Given the description of an element on the screen output the (x, y) to click on. 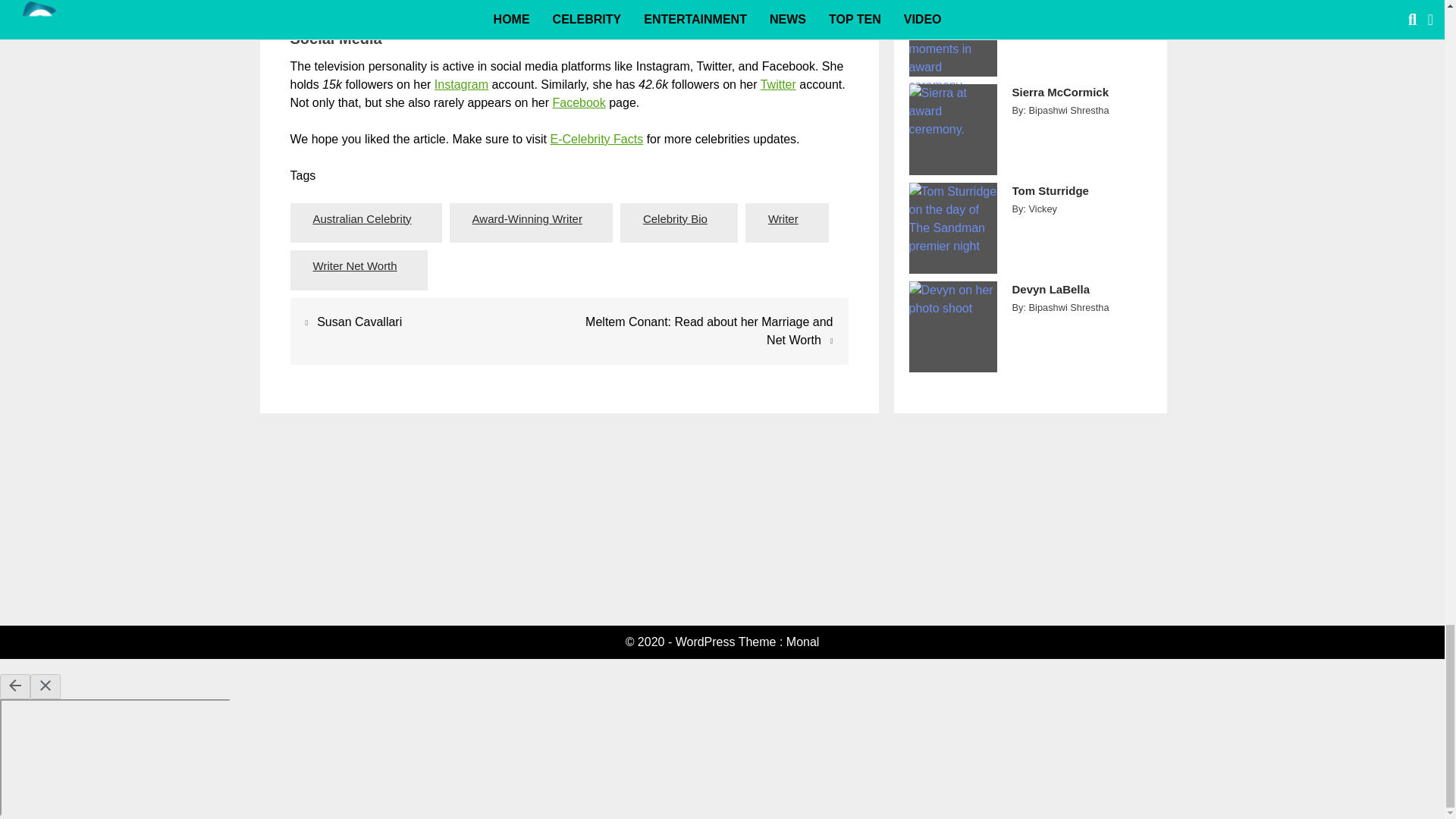
Instagram (460, 83)
Writer (783, 219)
Susan Cavallari (359, 321)
Twitter (778, 83)
Award-Winning Writer (527, 219)
Celebrity Bio (675, 219)
Facebook (578, 102)
E-Celebrity Facts (596, 138)
Australian Celebrity (362, 219)
Writer Net Worth (355, 266)
